Given the description of an element on the screen output the (x, y) to click on. 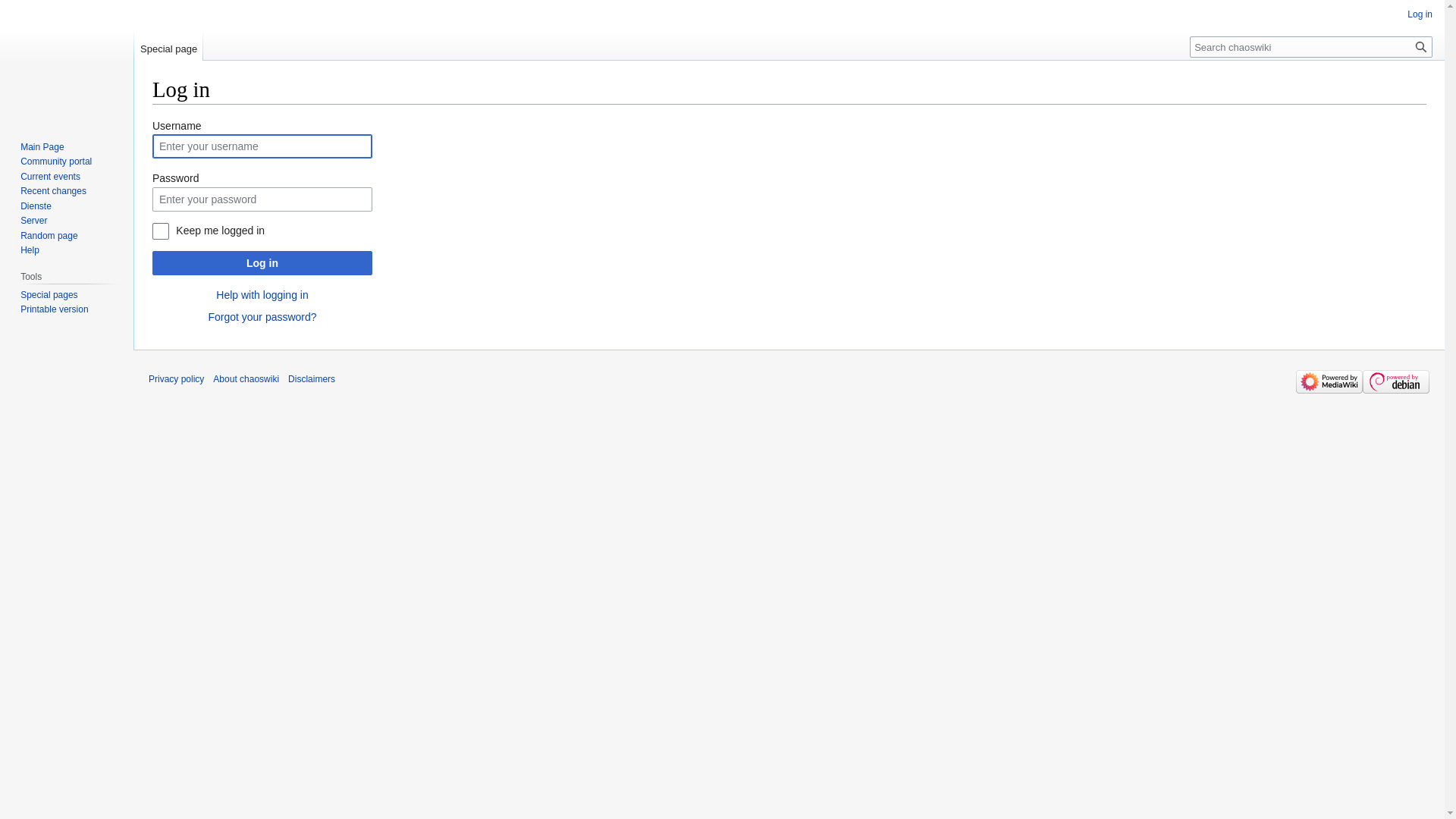
Jump to navigation Element type: text (151, 116)
Search chaoswiki [f](word-separator)(brackets: alt-shift-f) Element type: hover (1310, 46)
Random page Element type: text (48, 235)
Dienste Element type: text (35, 205)
Special page Element type: text (168, 45)
Help Element type: text (29, 249)
Search the pages for this text Element type: hover (1420, 46)
Current events Element type: text (50, 176)
Privacy policy Element type: text (175, 378)
Log in Element type: text (262, 263)
Main Page Element type: text (41, 146)
Forgot your password? Element type: text (261, 316)
Disclaimers Element type: text (311, 378)
Printable version Element type: text (53, 309)
Search Element type: text (1420, 46)
Visit the main page Element type: hover (66, 60)
Help with logging in Element type: text (261, 294)
Recent changes Element type: text (53, 190)
About chaoswiki Element type: text (246, 378)
Log in Element type: text (1419, 14)
Community portal Element type: text (55, 161)
Server Element type: text (33, 220)
Special pages Element type: text (48, 294)
